Given the description of an element on the screen output the (x, y) to click on. 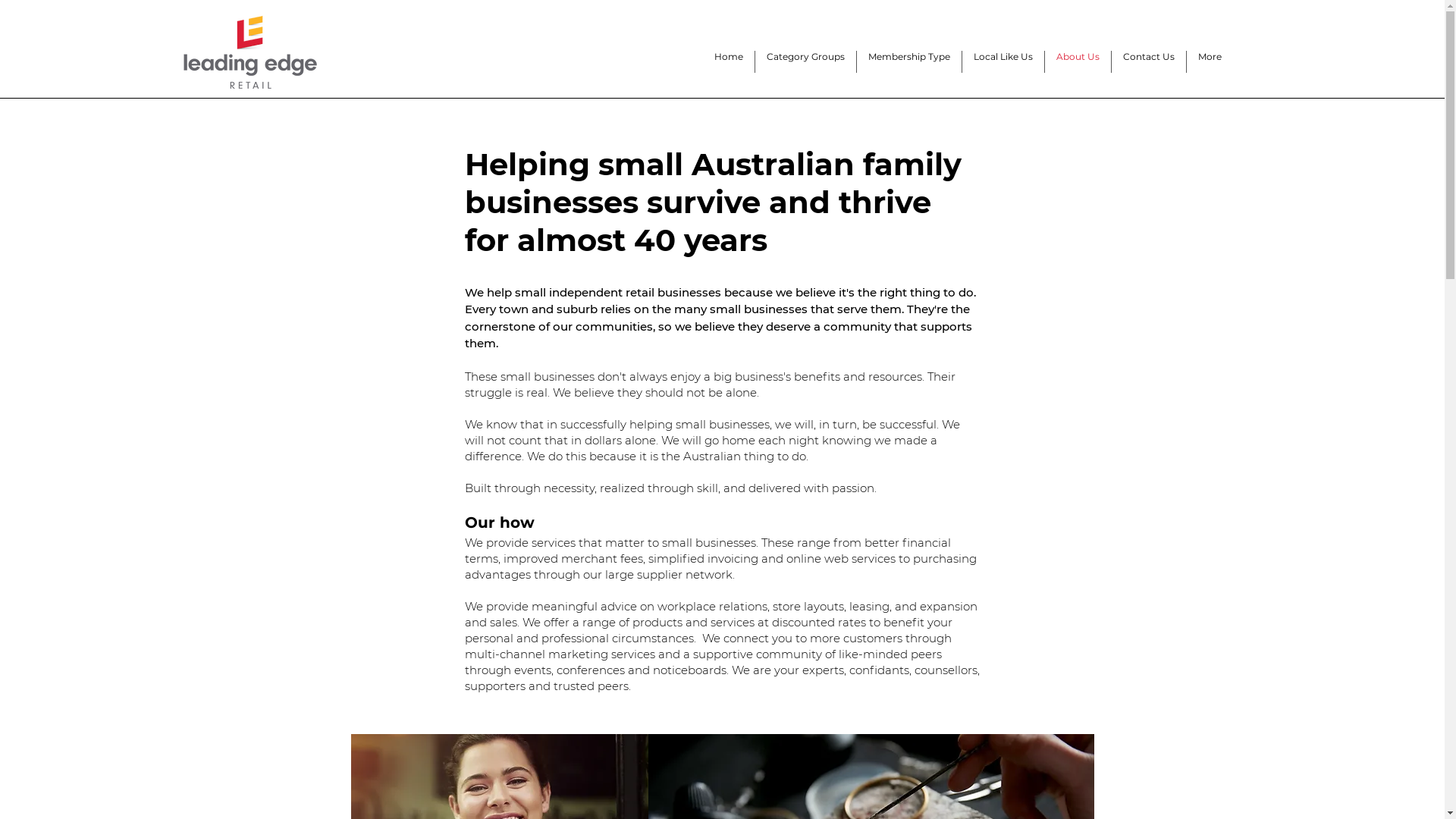
Home Element type: text (728, 61)
Contact Us Element type: text (1148, 61)
Membership Type Element type: text (908, 61)
Local Like Us Element type: text (1003, 61)
Category Groups Element type: text (805, 61)
About Us Element type: text (1077, 61)
